Given the description of an element on the screen output the (x, y) to click on. 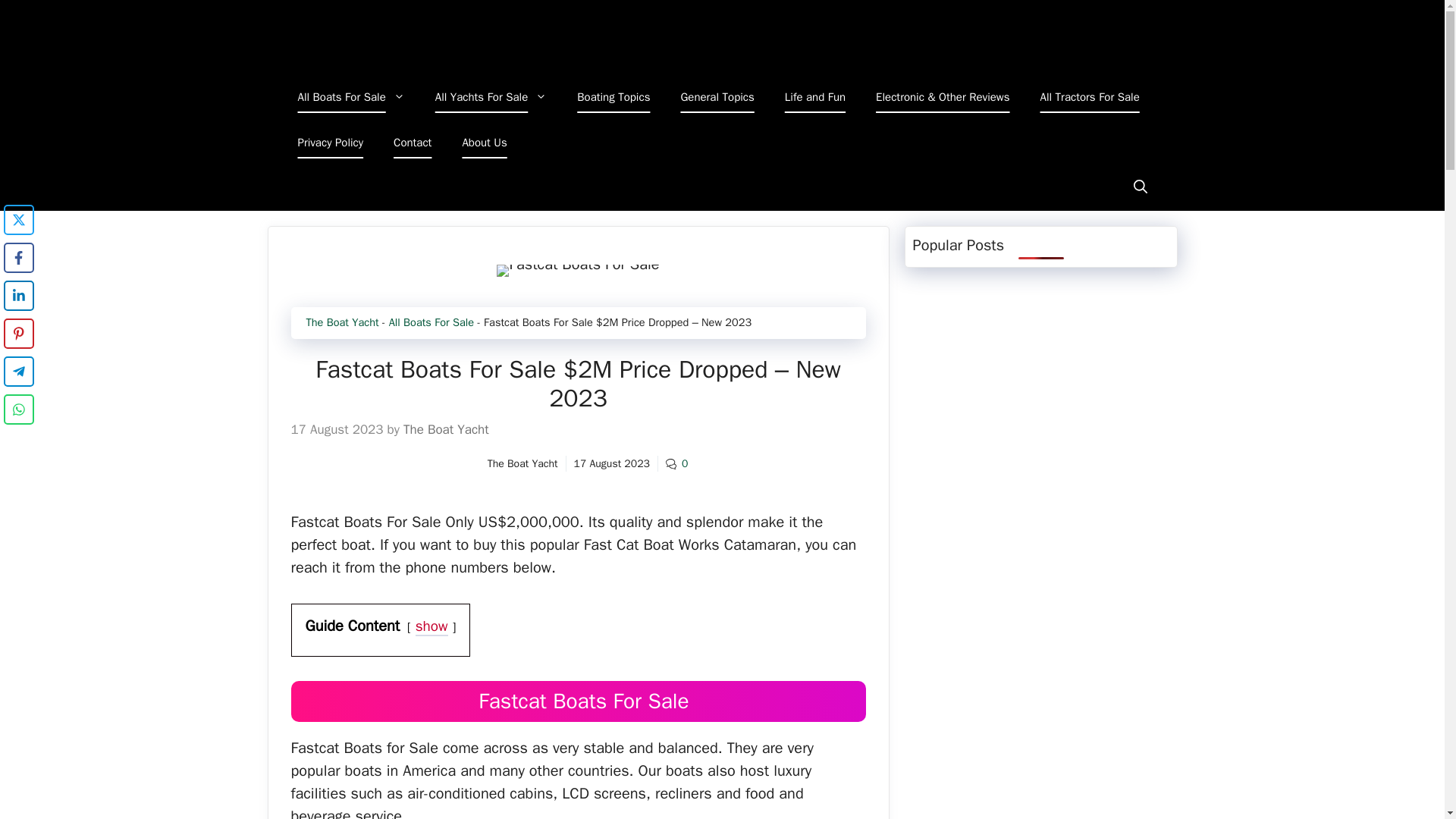
The Boat Yacht (440, 37)
View all posts by The Boat Yacht (446, 429)
All Boats For Sale (350, 96)
